Given the description of an element on the screen output the (x, y) to click on. 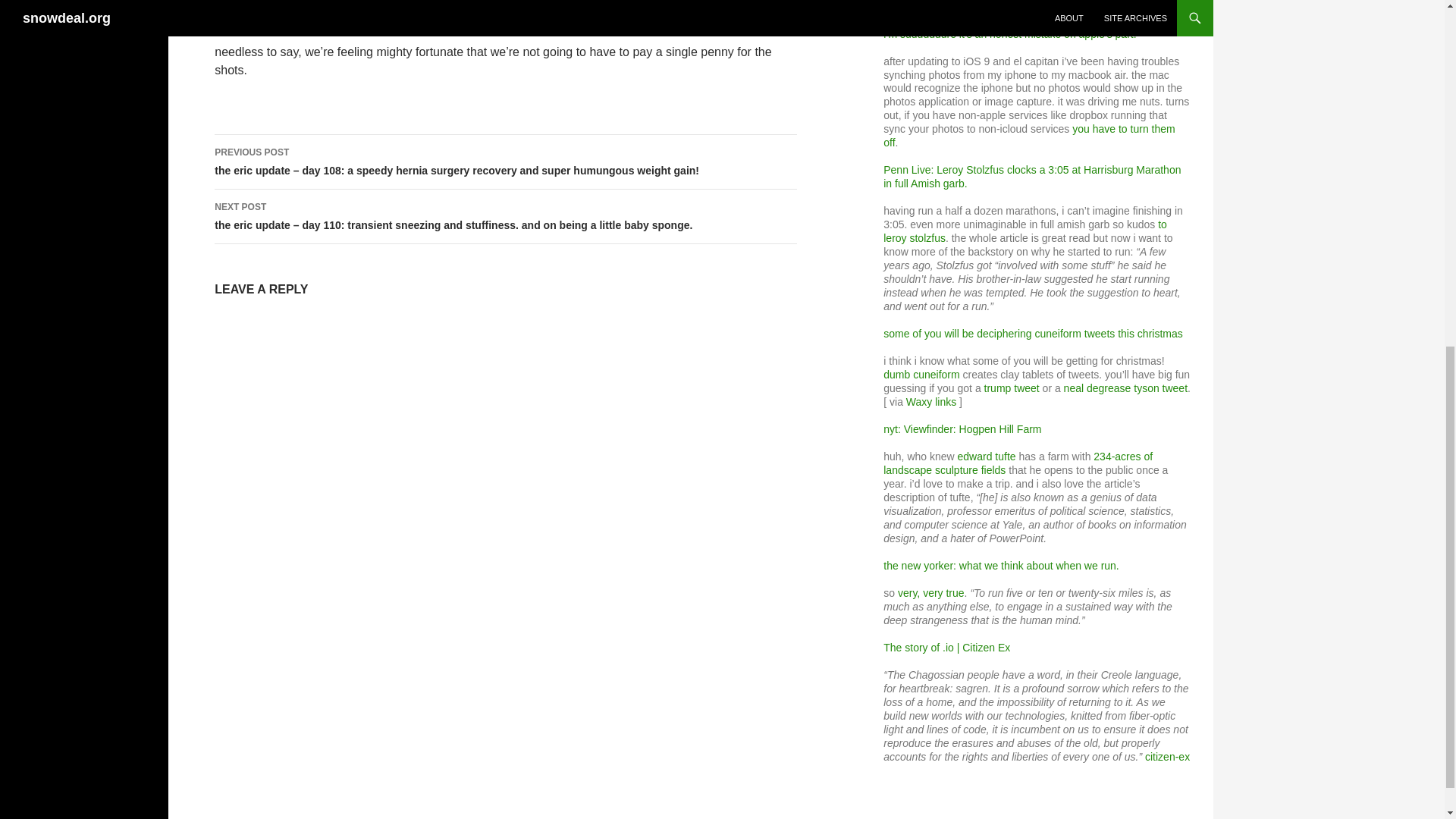
dumb cuneiform (921, 374)
to leroy stolzfus (1025, 231)
nyt: Viewfinder: Hogpen Hill Farm (962, 428)
Waxy links (930, 401)
you have to turn them off (1028, 135)
edward tufte (987, 456)
cracked (1045, 6)
234-acres of landscape sculpture fields (1018, 462)
neal degrease tyson tweet (1126, 387)
the new yorker: what we think about when we run. (1001, 565)
trump tweet (1011, 387)
